Given the description of an element on the screen output the (x, y) to click on. 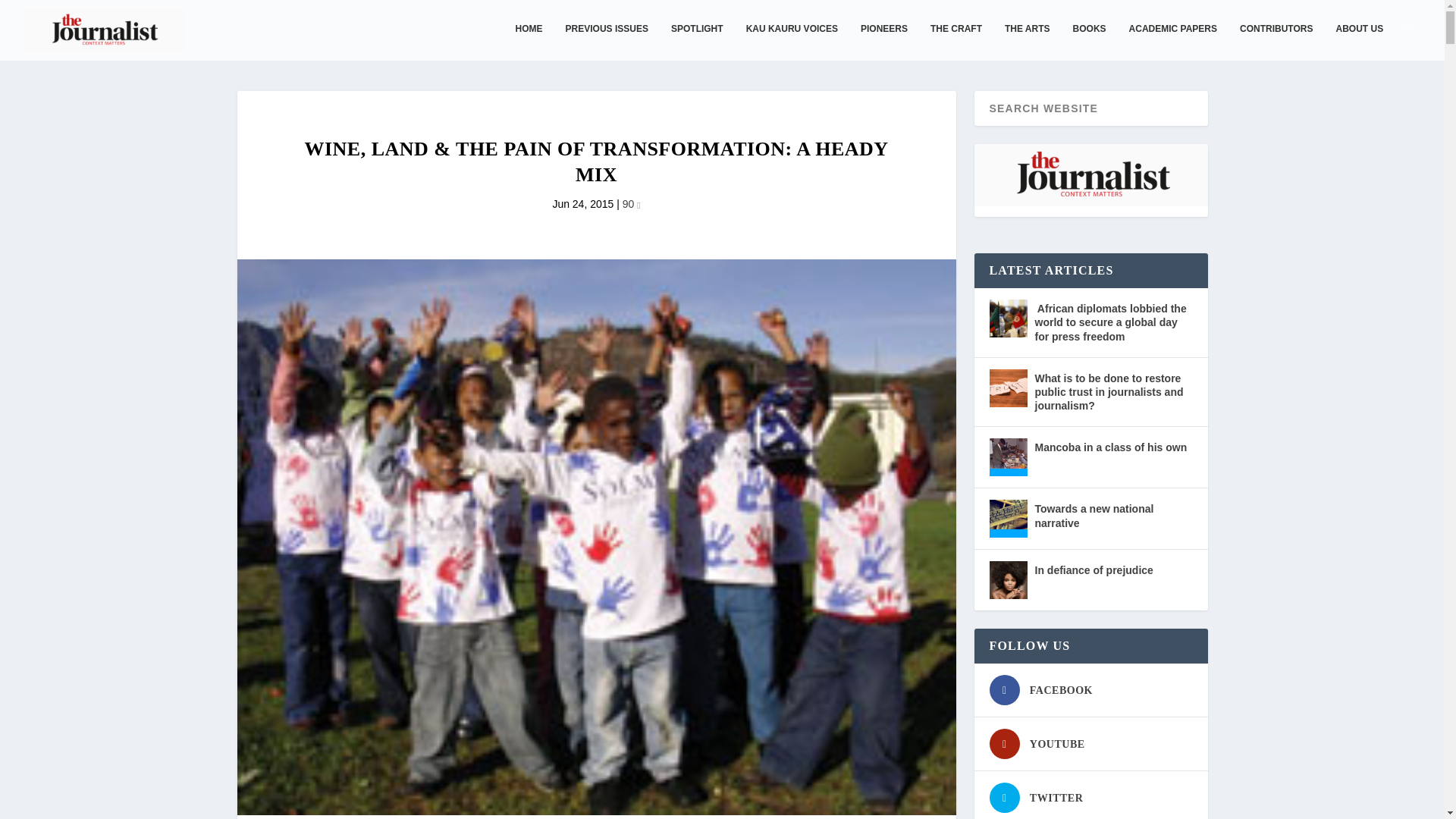
SPOTLIGHT (697, 41)
PIONEERS (883, 41)
KAU KAURU VOICES (791, 41)
ACADEMIC PAPERS (1173, 41)
THE ARTS (1026, 41)
CONTRIBUTORS (1276, 41)
THE CRAFT (955, 41)
90 (631, 203)
PREVIOUS ISSUES (606, 41)
ABOUT US (1359, 41)
